Given the description of an element on the screen output the (x, y) to click on. 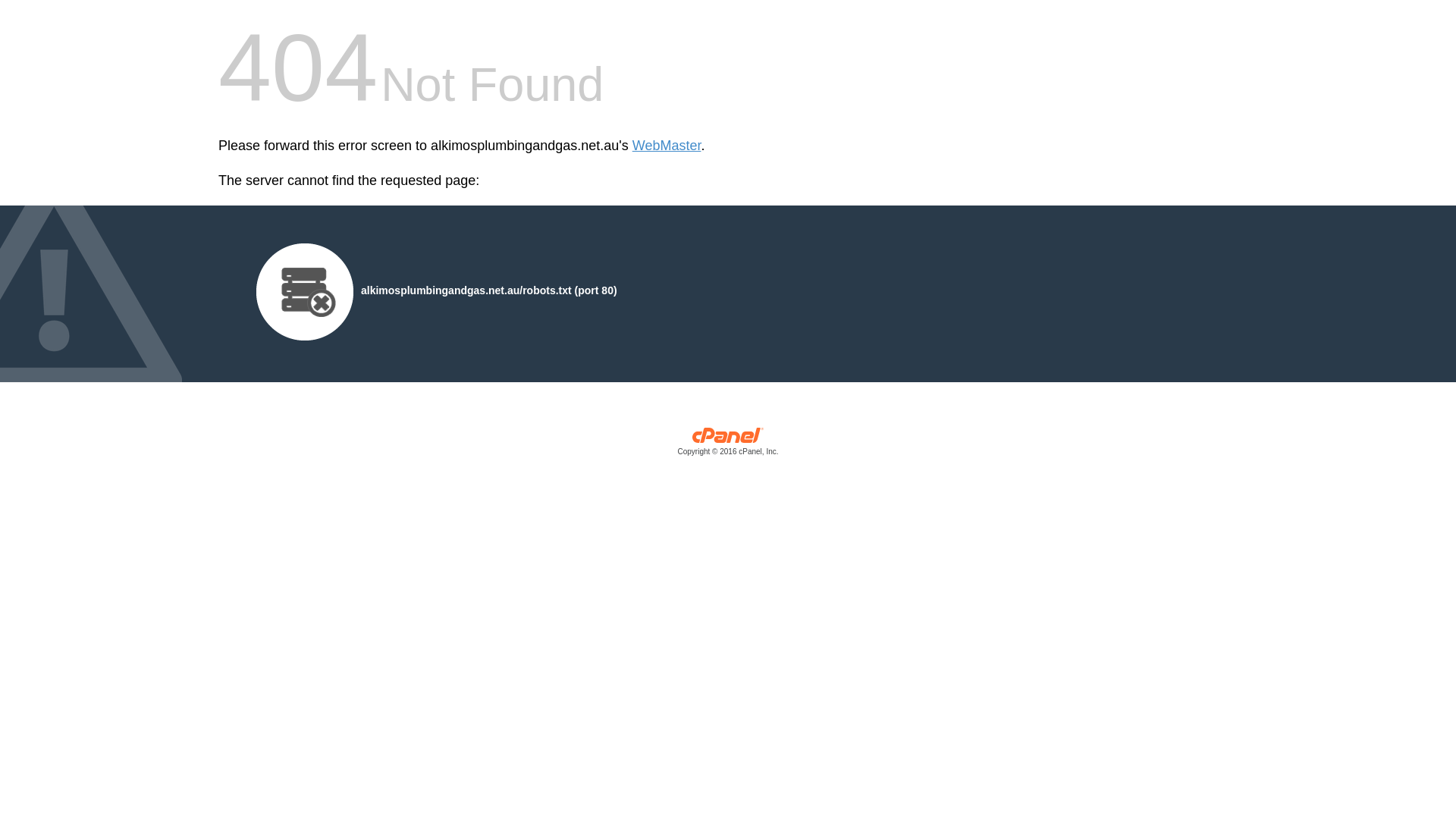
WebMaster Element type: text (666, 145)
